Given the description of an element on the screen output the (x, y) to click on. 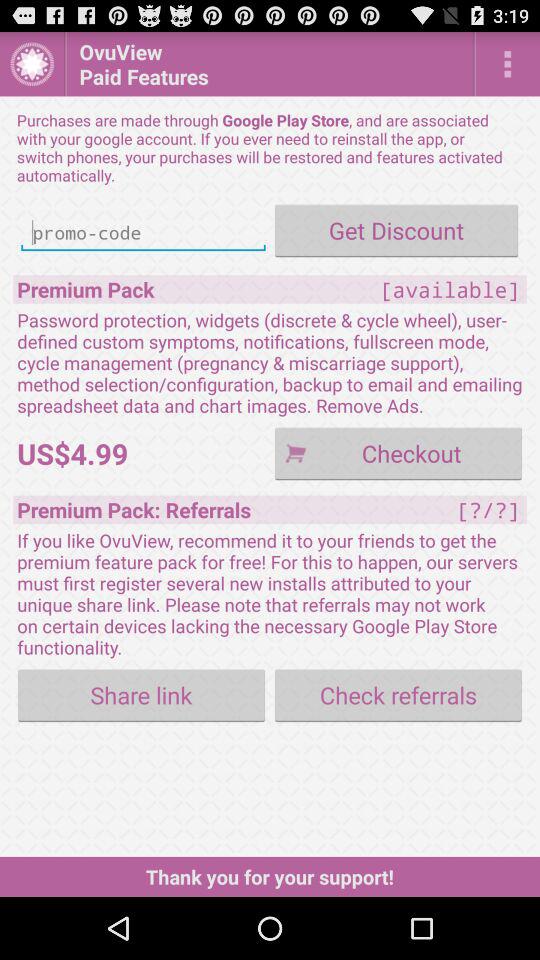
side manu button (507, 63)
